Given the description of an element on the screen output the (x, y) to click on. 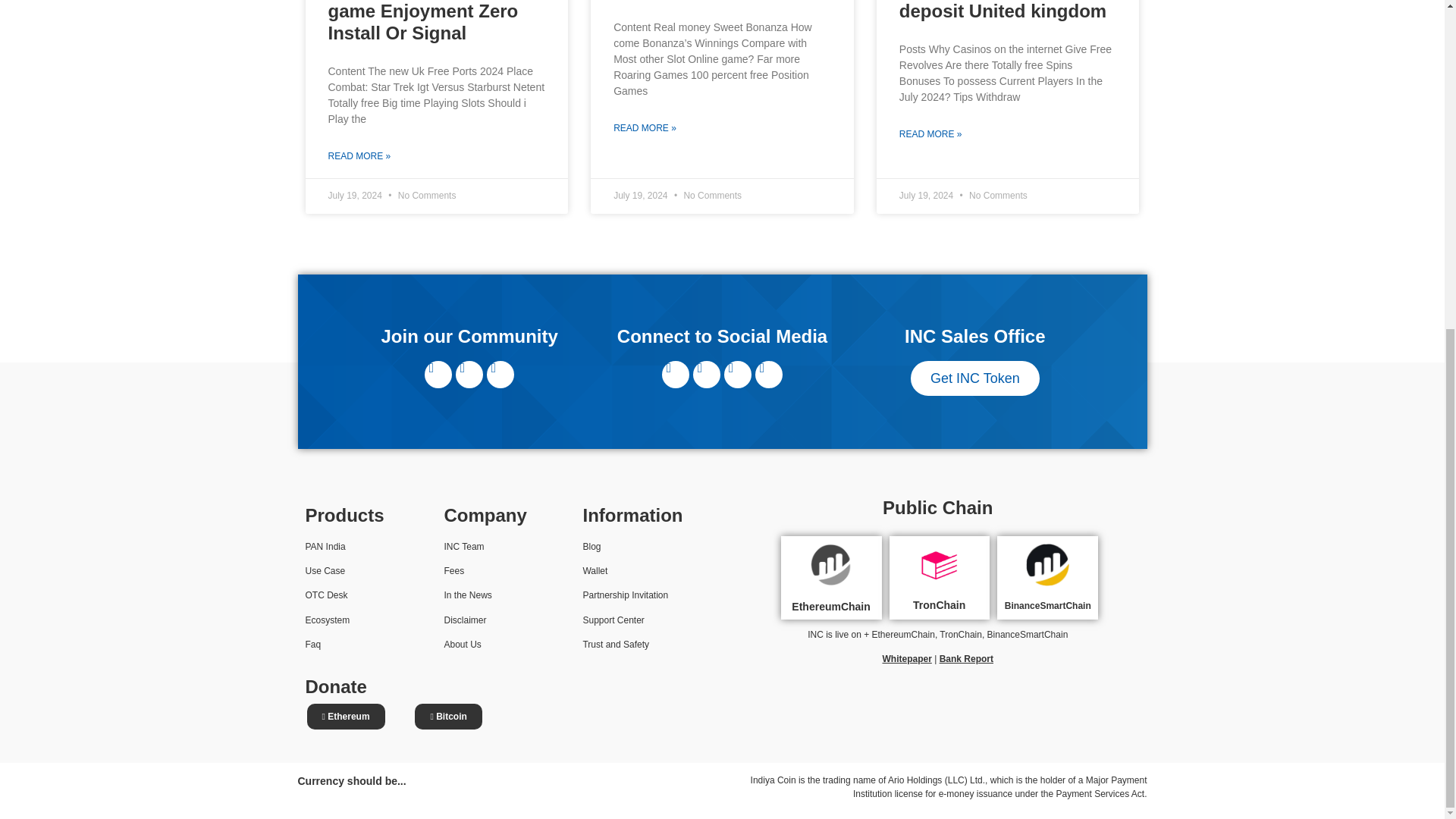
Copy to Clipboard (348, 716)
Enjoy Free Slot Video game Enjoyment Zero Install Or Signal (422, 22)
20 Free Revolves No-deposit United kingdom (1002, 11)
Copy to Clipboard (451, 716)
